Given the description of an element on the screen output the (x, y) to click on. 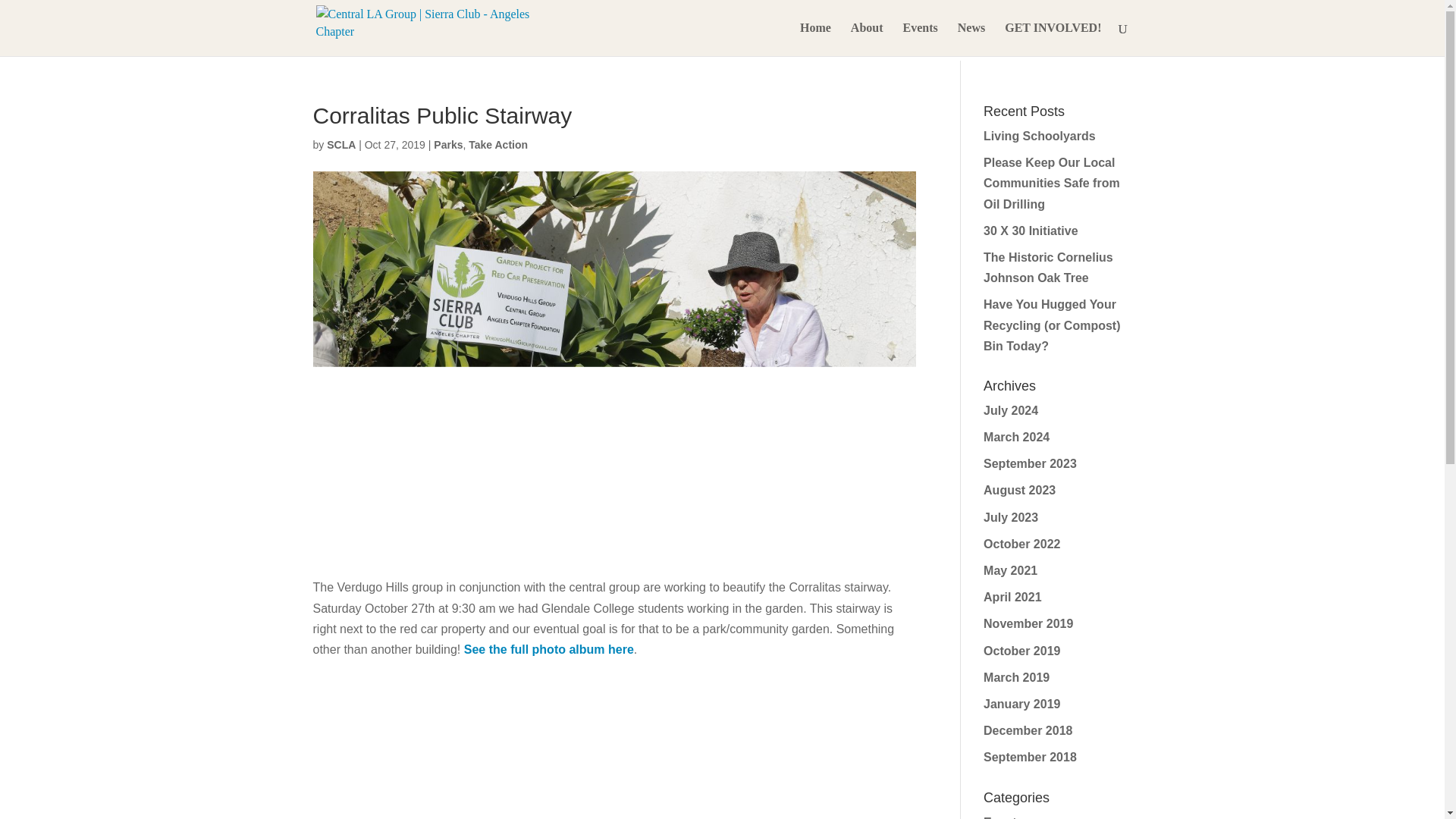
About (866, 39)
April 2021 (1012, 596)
Posts by SCLA (340, 144)
GET INVOLVED! (1052, 39)
October 2022 (1021, 543)
March 2019 (1016, 676)
See the full photo album here (548, 649)
December 2018 (1027, 730)
July 2023 (1011, 517)
October 2019 (1021, 650)
